Given the description of an element on the screen output the (x, y) to click on. 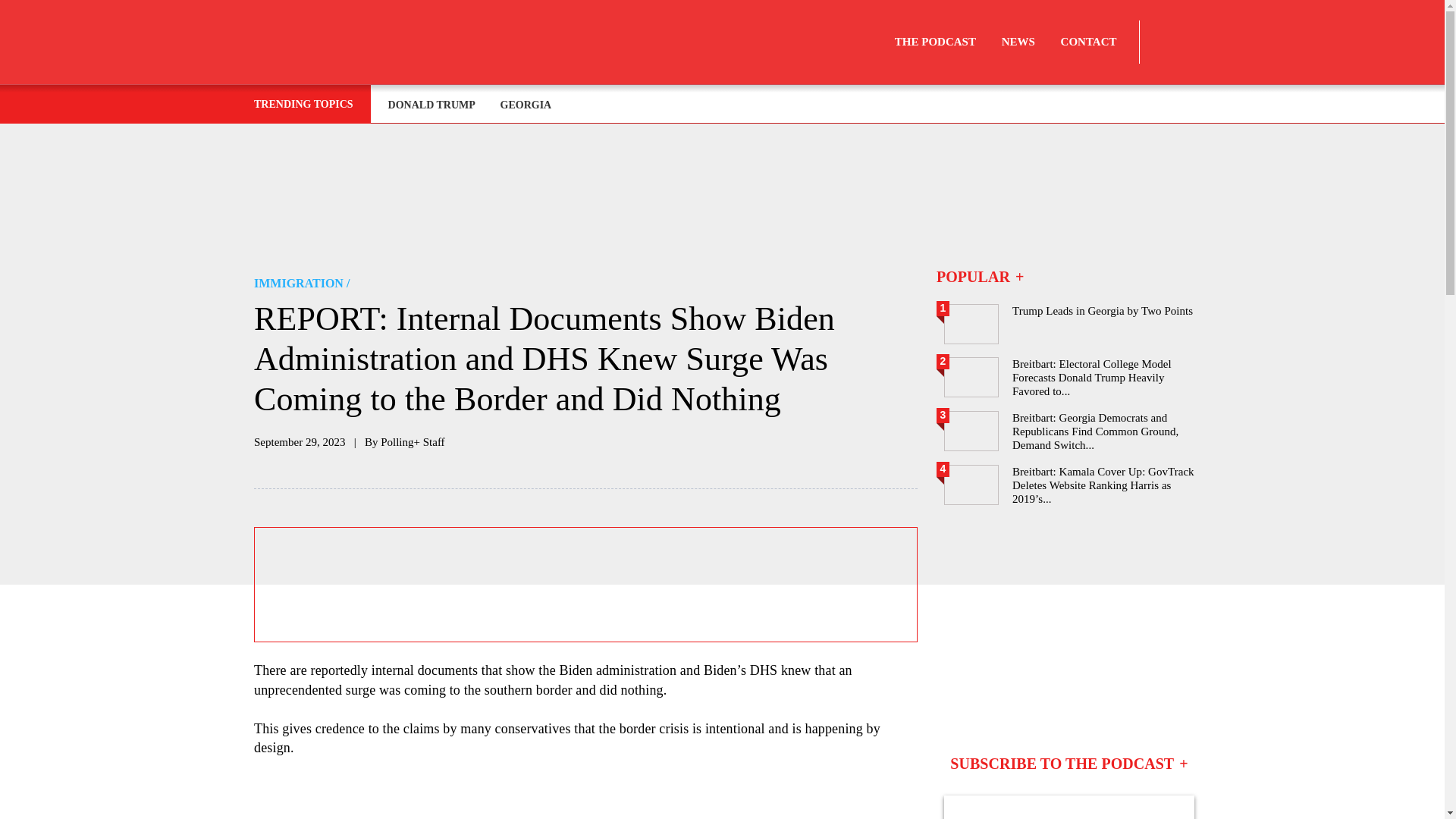
Trump Leads in Georgia by Two Points (1072, 323)
THE PODCAST (935, 41)
NEWS (1018, 41)
CONTACT (1088, 41)
GEORGIA (526, 104)
DONALD TRUMP (433, 104)
